Given the description of an element on the screen output the (x, y) to click on. 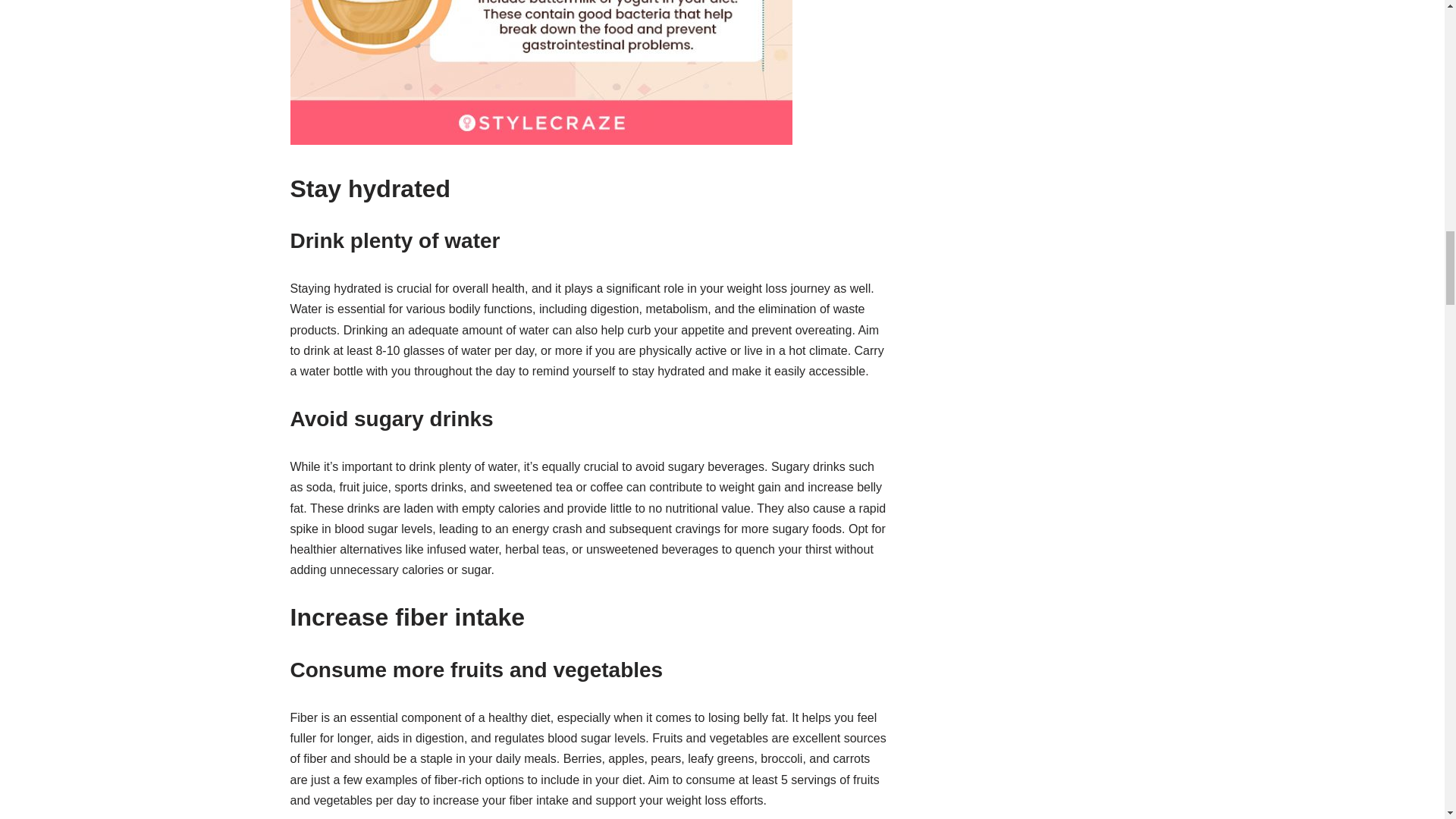
10 Natural Ways to Lose Belly Fat in Just One Week (540, 72)
